Given the description of an element on the screen output the (x, y) to click on. 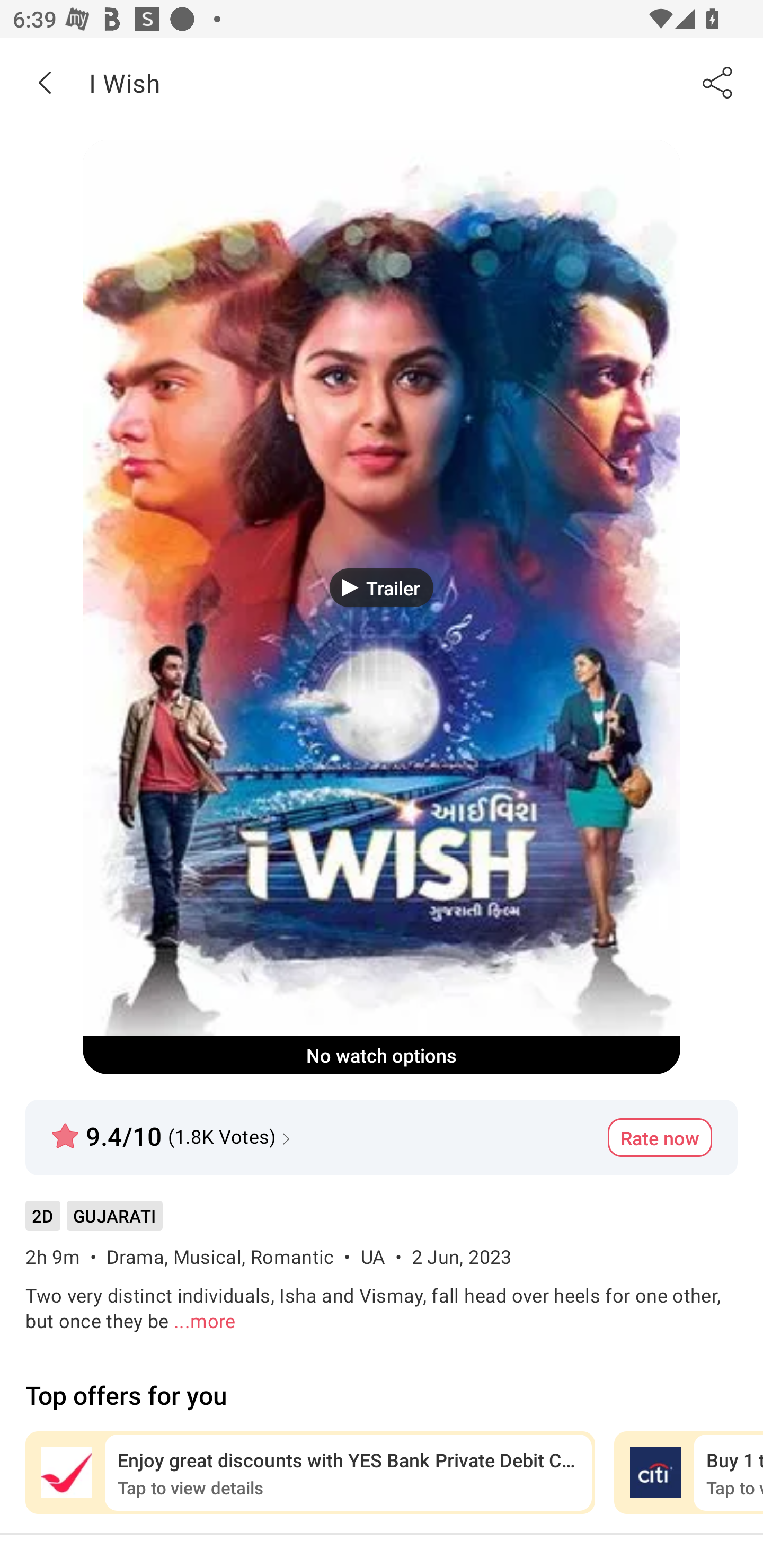
Back (44, 82)
Share (718, 82)
Movie Banner Trailer No watch options (381, 606)
Trailer (381, 586)
9.4/10 (1.8K Votes) (173, 1128)
Rate now (659, 1137)
2D GUJARATI (93, 1222)
